Given the description of an element on the screen output the (x, y) to click on. 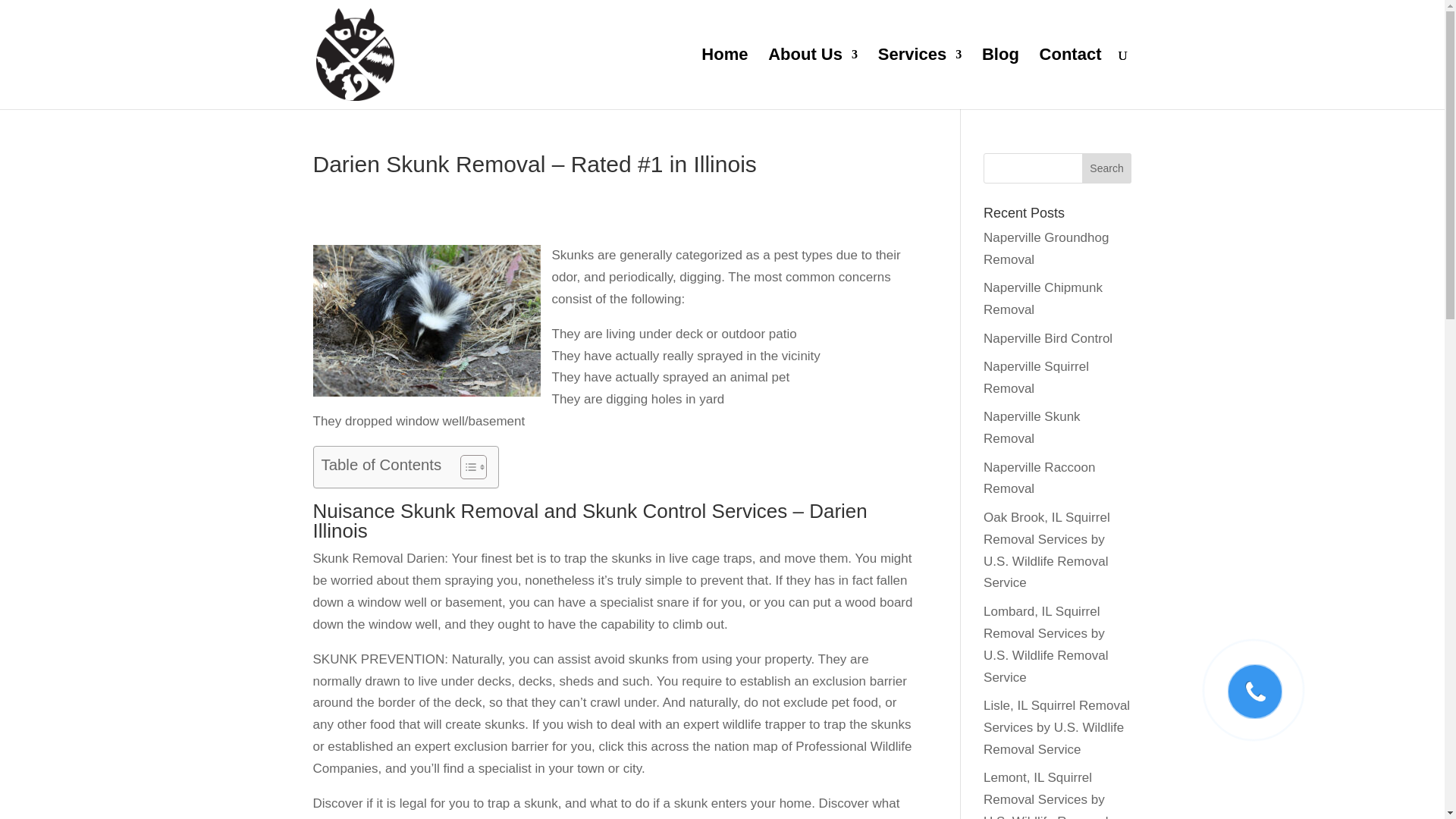
Services (919, 78)
Search (1106, 168)
Search (1106, 168)
Contact (1070, 78)
About Us (812, 78)
